Given the description of an element on the screen output the (x, y) to click on. 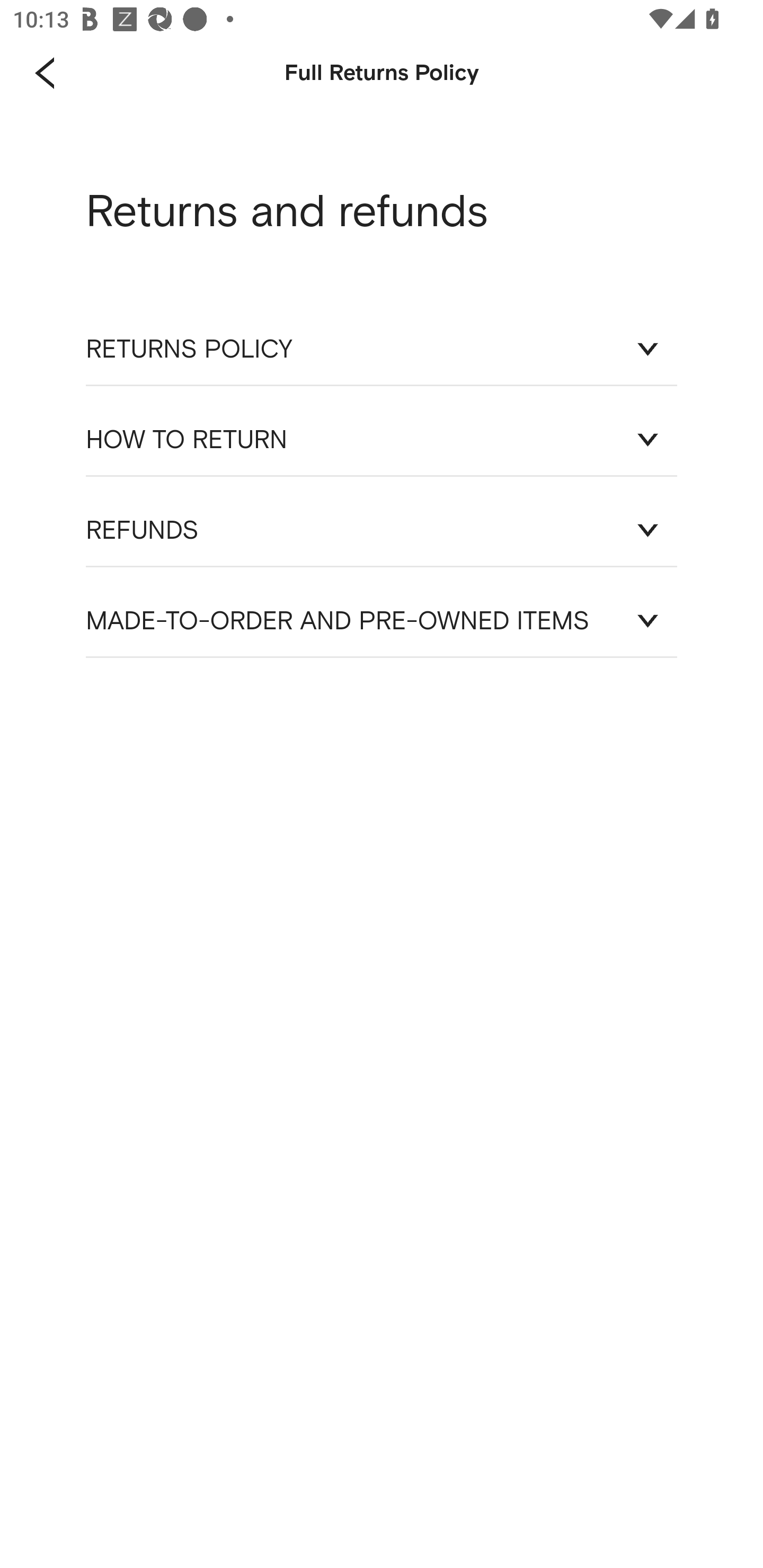
RETURNS POLICY (381, 348)
HOW TO RETURN (381, 438)
REFUNDS (381, 529)
MADE-TO-ORDER AND PRE-OWNED ITEMS (381, 620)
